Given the description of an element on the screen output the (x, y) to click on. 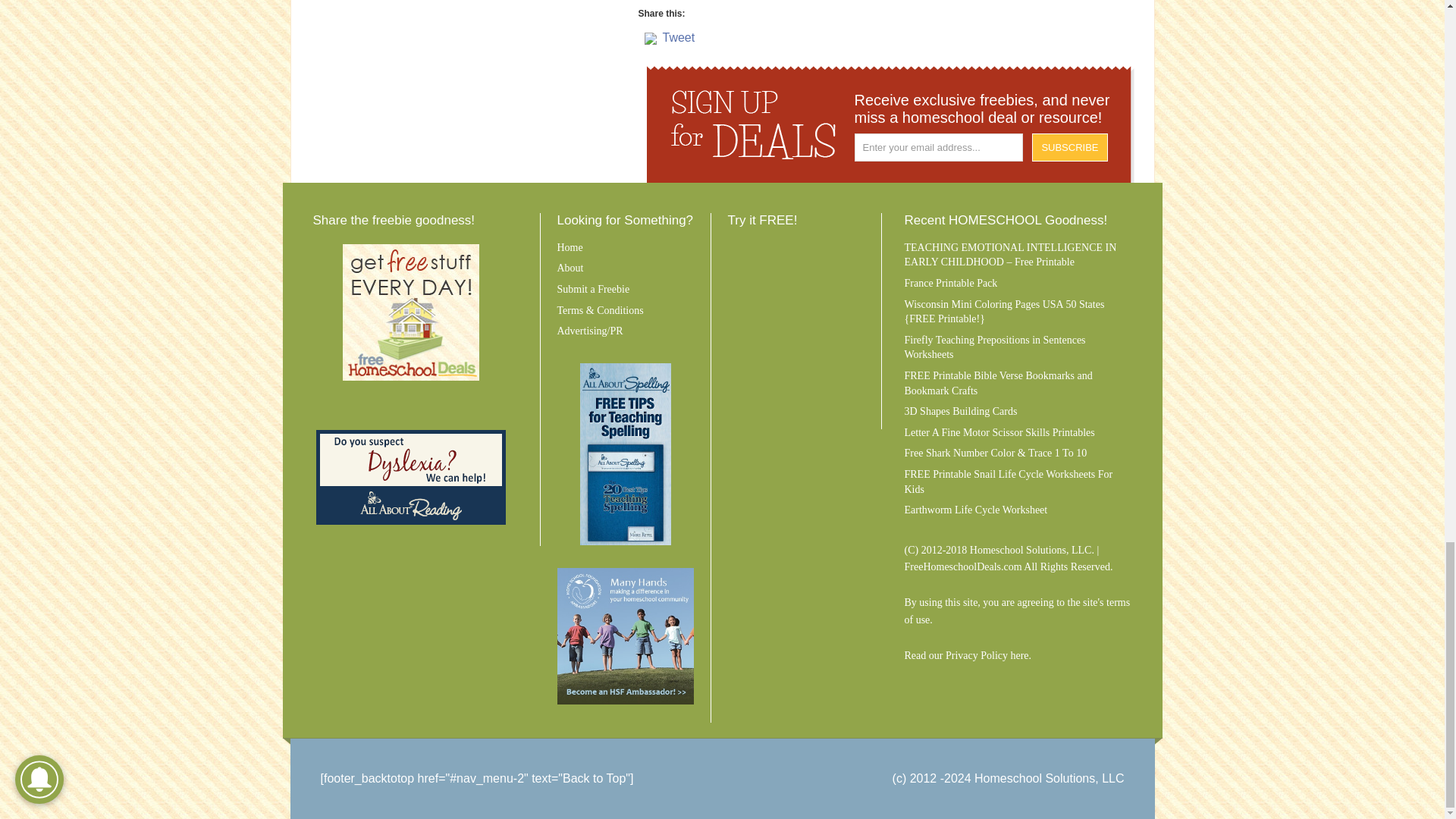
Free Homeschool Deals (410, 312)
Subscribe (1070, 147)
